Given the description of an element on the screen output the (x, y) to click on. 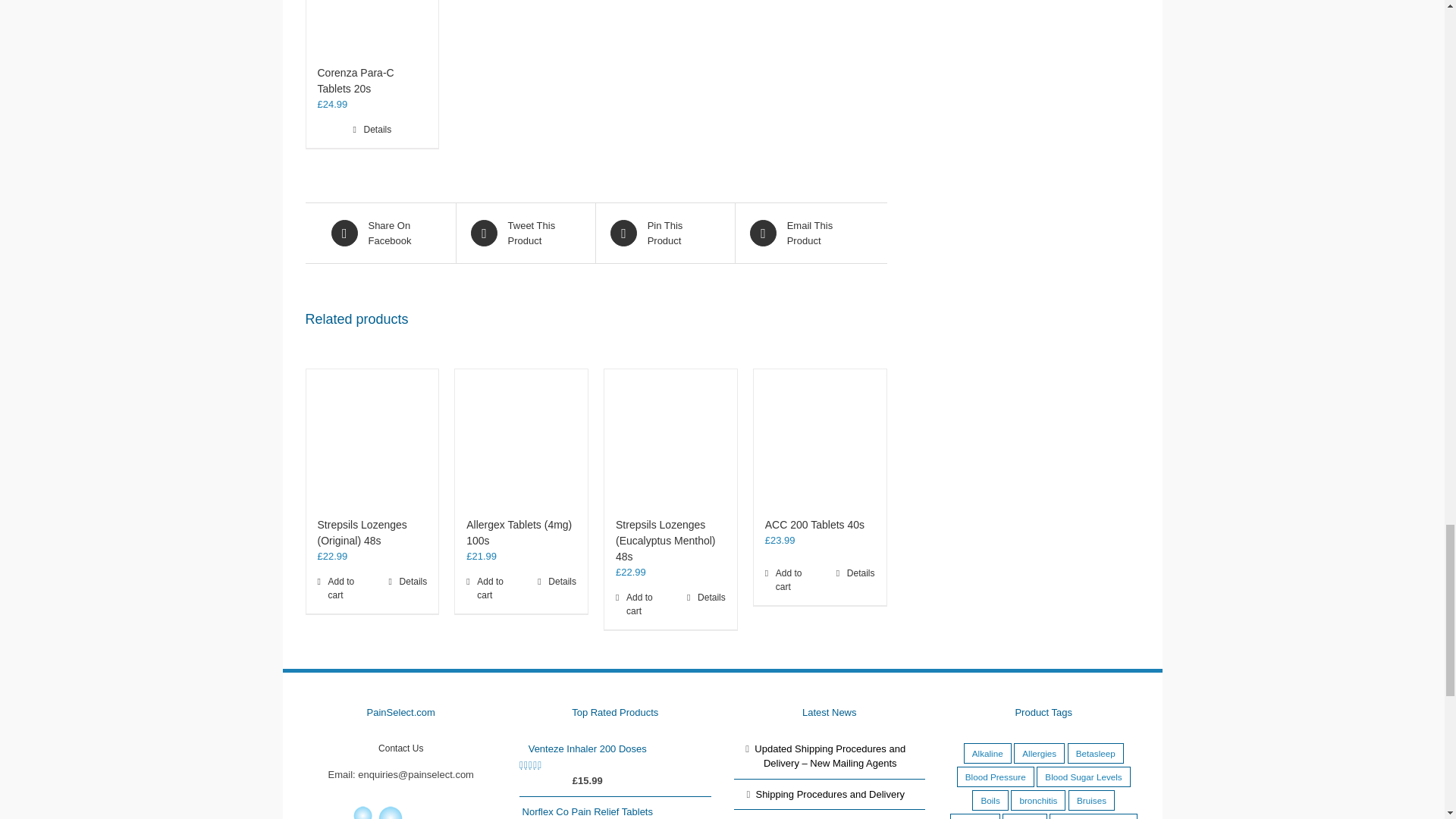
Original price:22.99 (630, 572)
Original price:23.99 (779, 540)
Original price:22.99 (332, 555)
Original price:24.99 (332, 103)
Original price:21.99 (480, 555)
